Given the description of an element on the screen output the (x, y) to click on. 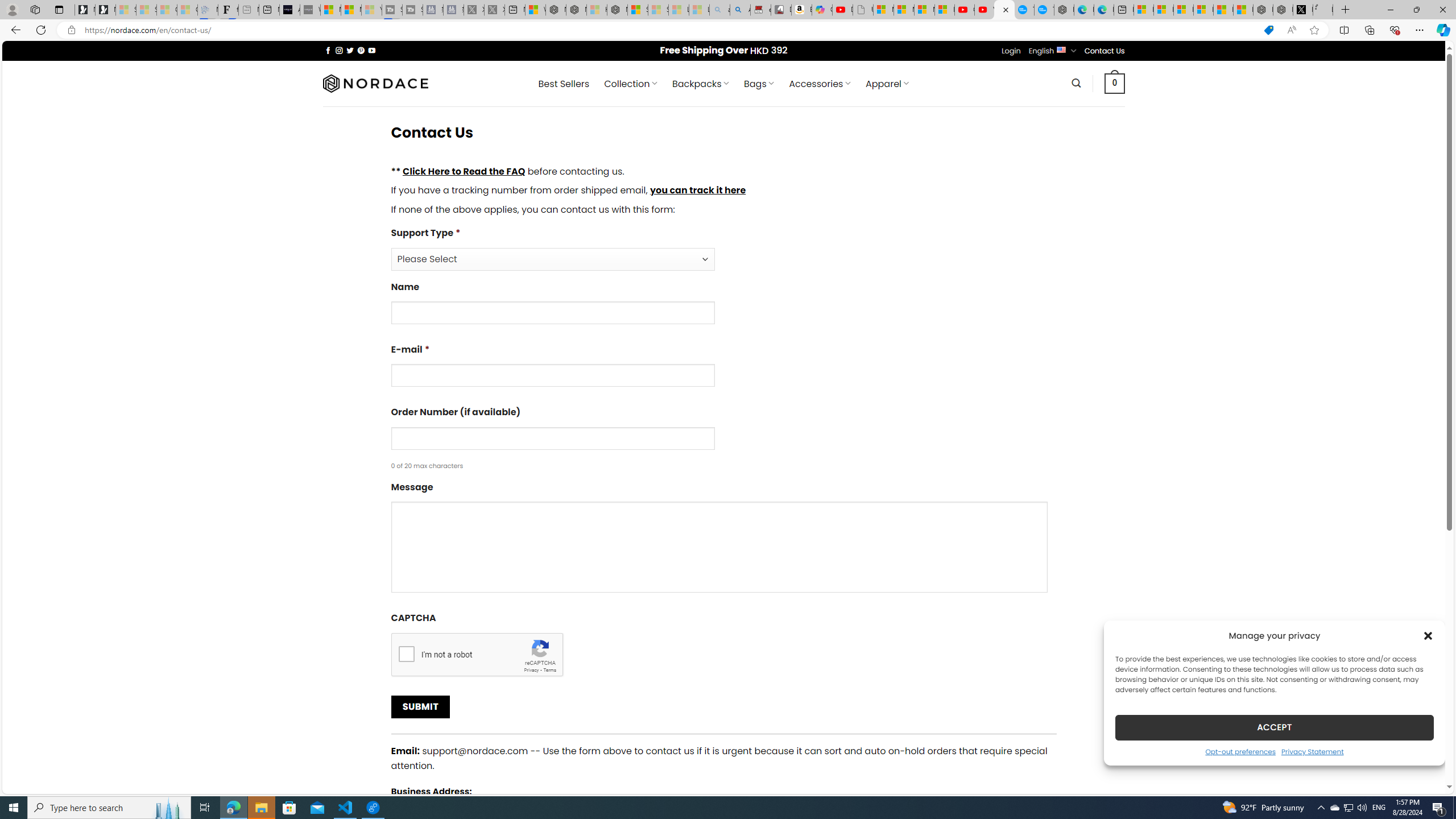
Click Here to Read the FAQ (463, 170)
you can track it here (697, 190)
